Given the description of an element on the screen output the (x, y) to click on. 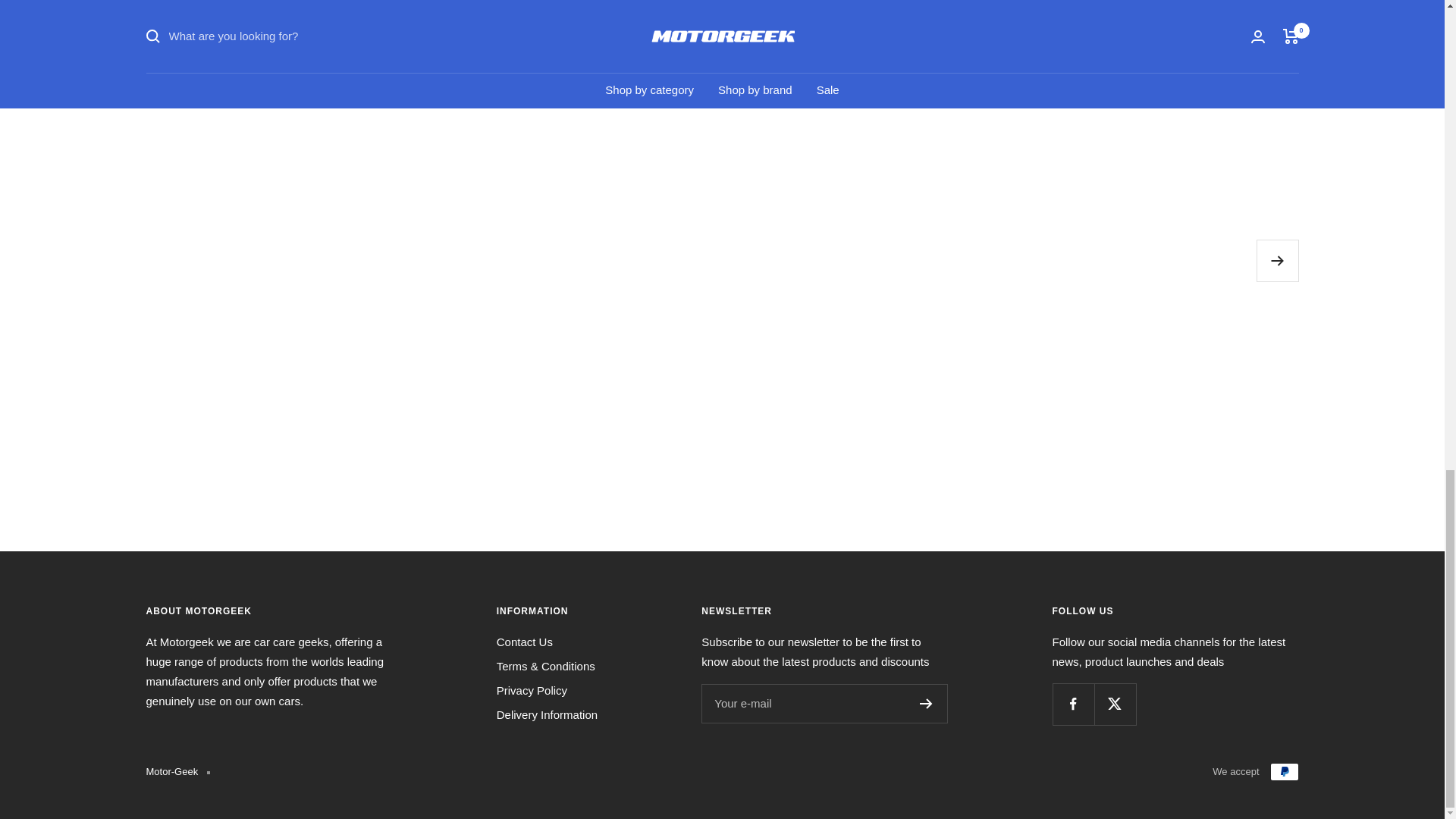
Register (926, 703)
